Given the description of an element on the screen output the (x, y) to click on. 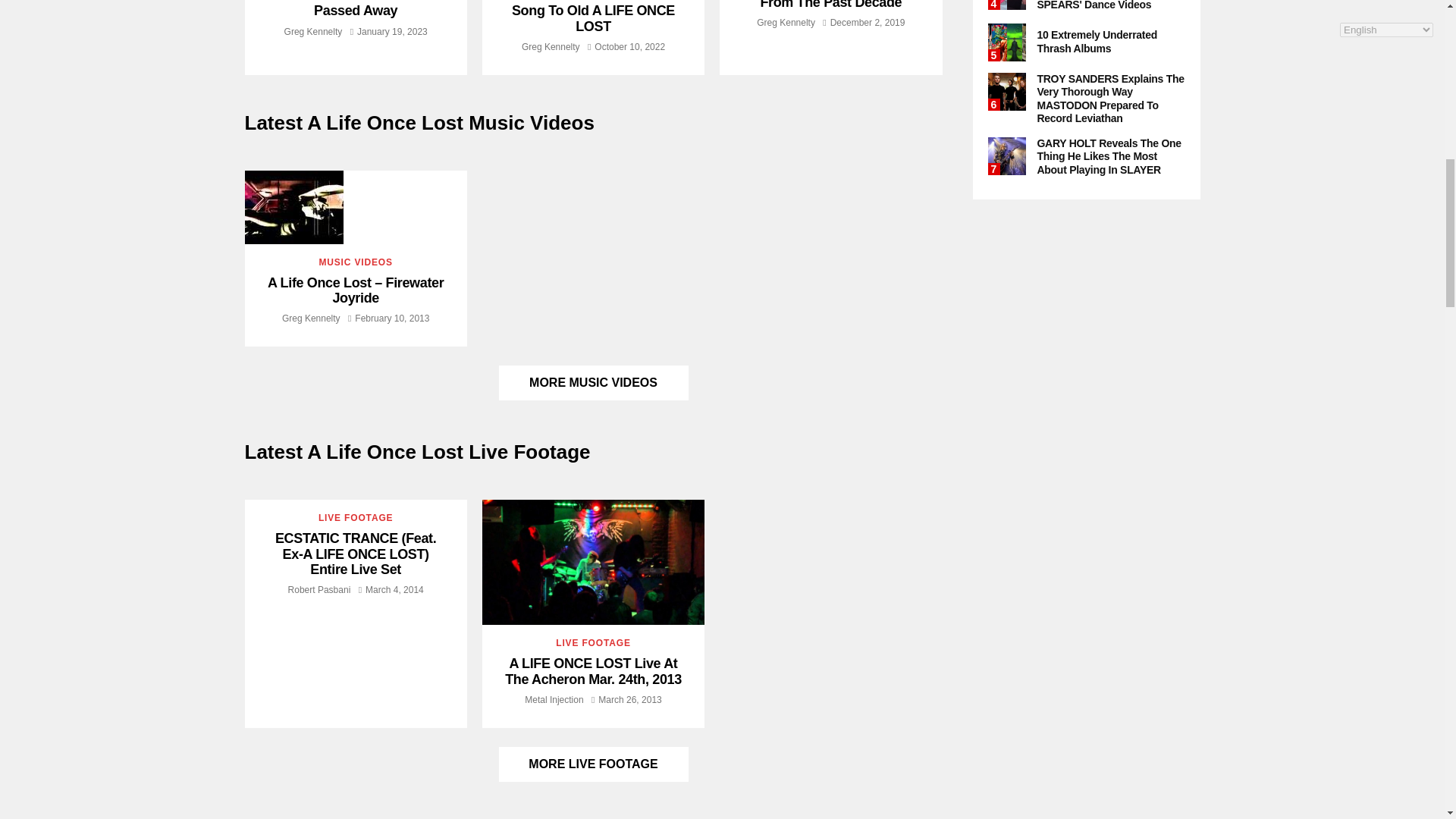
Posts by Greg Kennelty (312, 30)
Posts by Greg Kennelty (311, 317)
Posts by Greg Kennelty (786, 22)
Posts by Metal Injection (553, 699)
Posts by Greg Kennelty (550, 46)
